Given the description of an element on the screen output the (x, y) to click on. 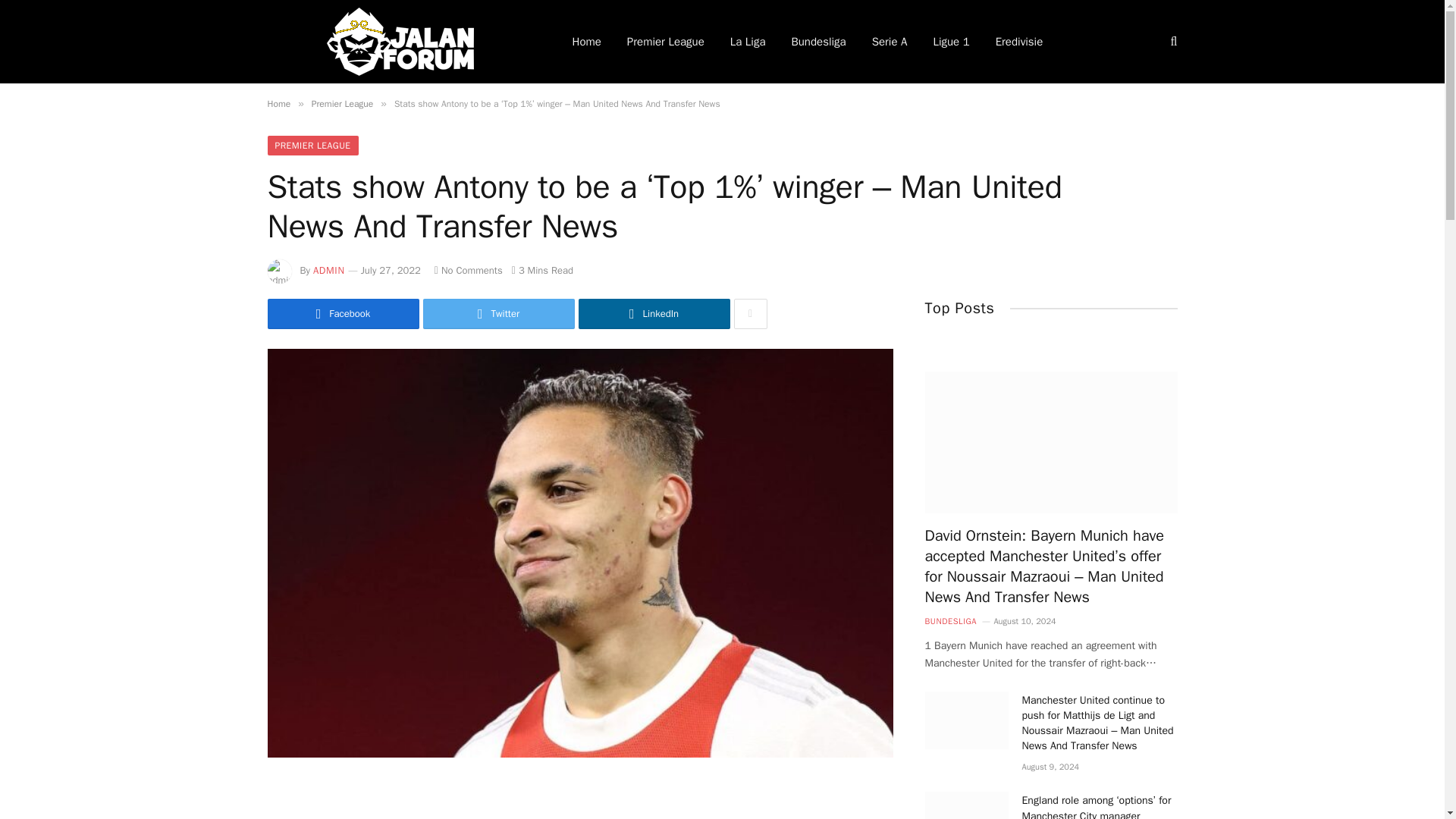
Jalanforum News (399, 41)
Twitter (499, 313)
Home (277, 103)
LinkedIn (653, 313)
Premier League (665, 41)
Share on Twitter (499, 313)
Bundesliga (818, 41)
No Comments (467, 269)
PREMIER LEAGUE (312, 145)
Share on LinkedIn (653, 313)
